Given the description of an element on the screen output the (x, y) to click on. 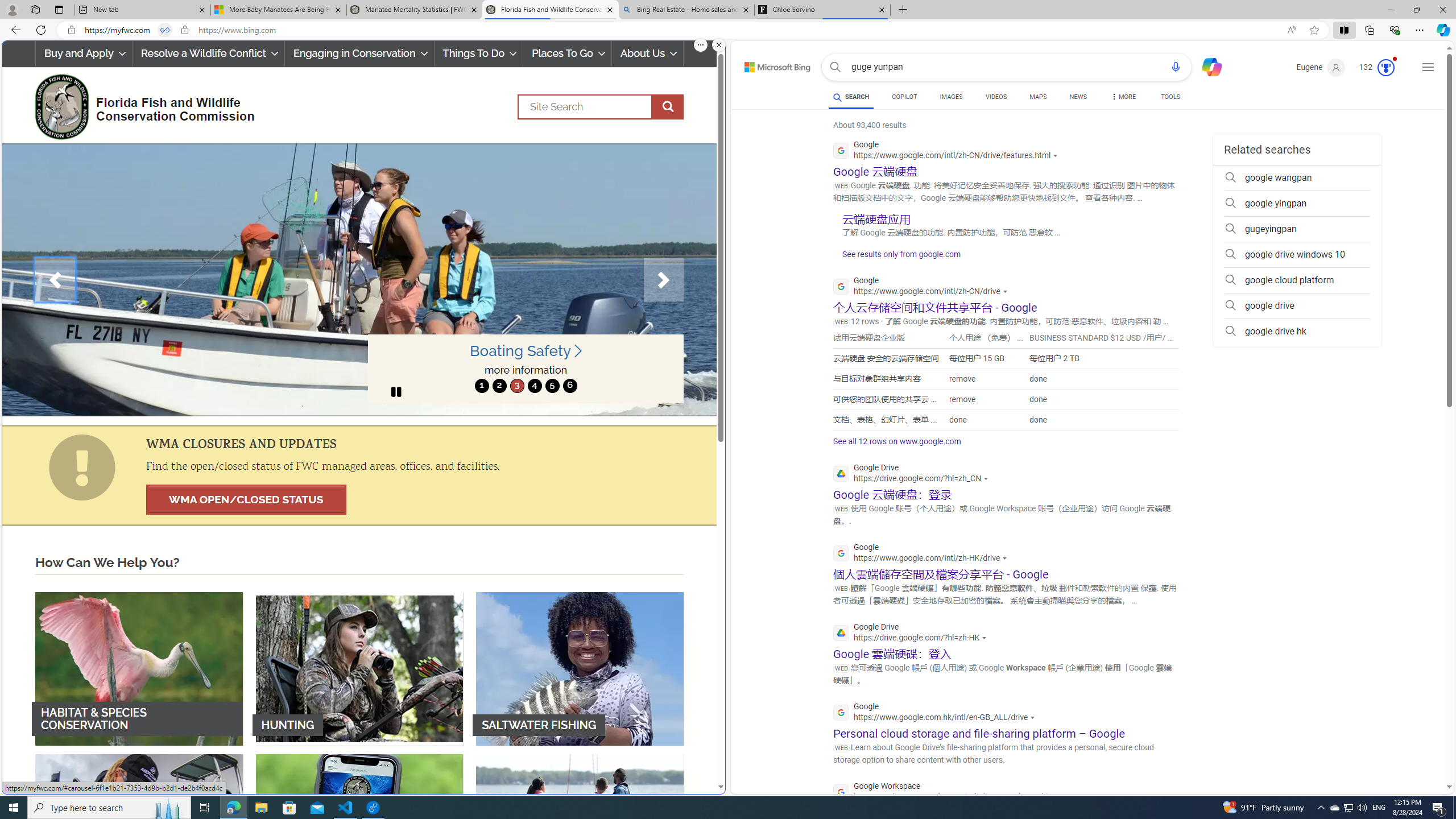
Skip to content (764, 63)
COPILOT (903, 96)
Search (600, 106)
google drive (1297, 305)
1 (481, 385)
Class: outer-circle-animation (1385, 67)
Back (13, 29)
Class: medal-svg-animation (1385, 67)
Engaging in Conservation (358, 53)
move to slide 2 (499, 385)
Eugene (1320, 67)
Search (835, 66)
